Given the description of an element on the screen output the (x, y) to click on. 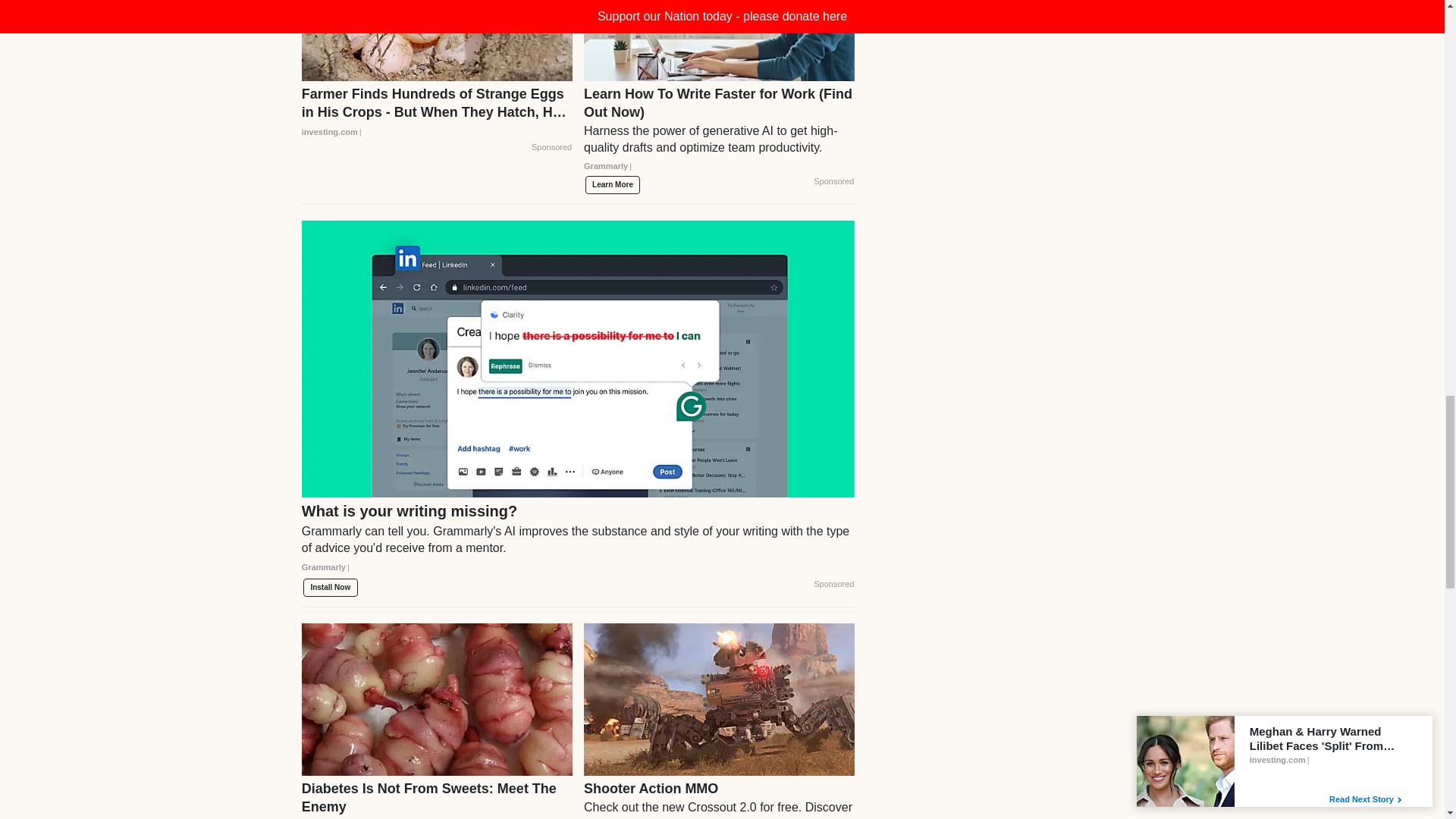
Learn More (612, 185)
Sponsored (833, 181)
Sponsored (551, 147)
